Given the description of an element on the screen output the (x, y) to click on. 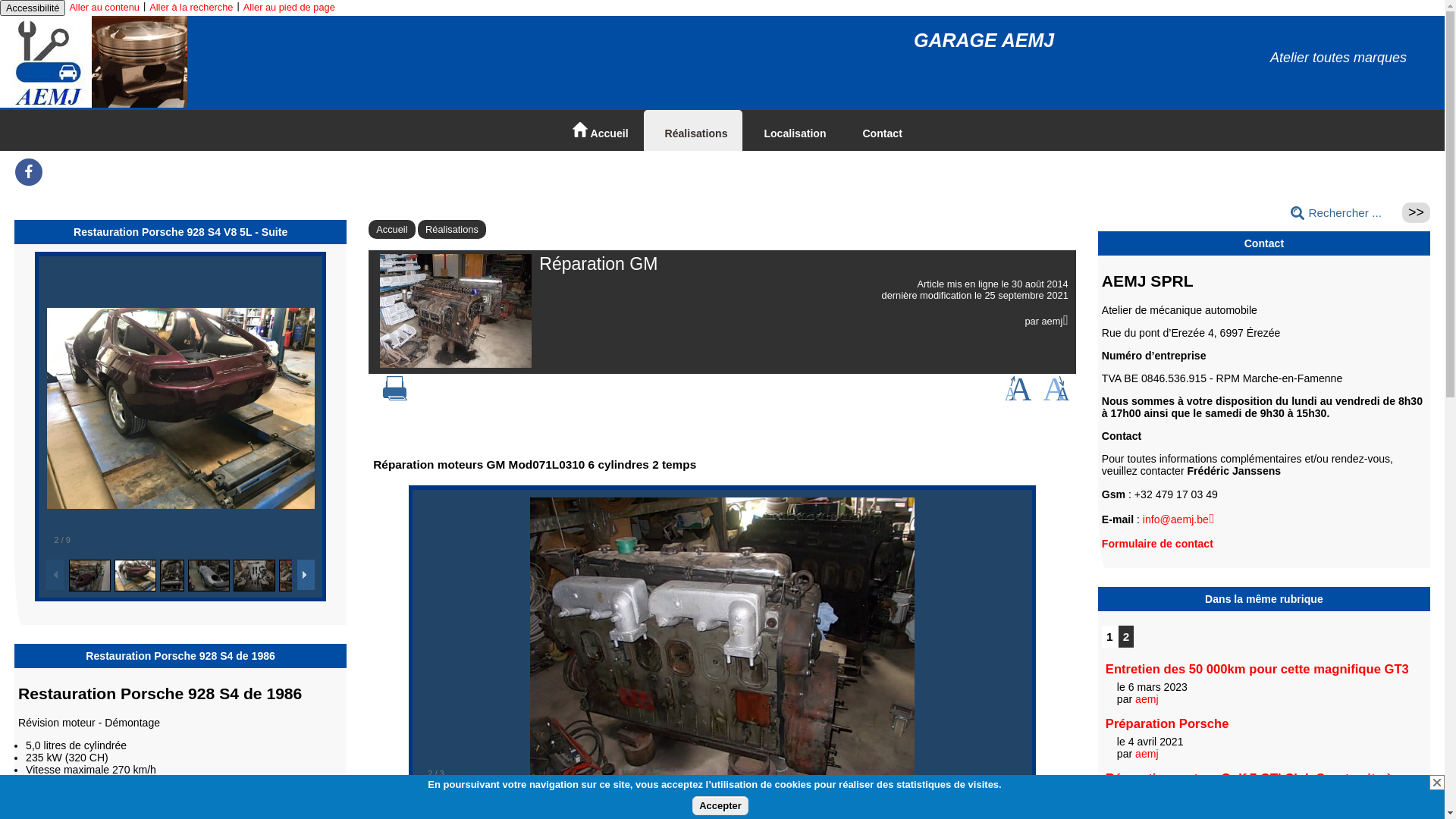
2 Element type: text (1126, 636)
aemj Element type: text (1146, 753)
Entretien des 50 000km pour cette magnifique GT3 Element type: text (1256, 669)
Localisation Element type: text (791, 129)
Formulaire de contact Element type: text (1157, 543)
info@aemj.be Element type: text (1178, 519)
Accueil Element type: text (391, 228)
Aller au contenu Element type: text (103, 6)
Rechercher Element type: hover (1416, 212)
Accepter Element type: text (720, 805)
aemj Element type: text (1146, 699)
Accueil Element type: hover (94, 103)
Rechercher ... Element type: text (1342, 212)
Facebook Element type: text (28, 177)
Contact Element type: text (879, 129)
>> Element type: text (1416, 212)
Aller au pied de page Element type: text (289, 6)
Imprimer Element type: hover (394, 396)
aemj Element type: text (1054, 320)
Accueil Element type: text (600, 129)
